Given the description of an element on the screen output the (x, y) to click on. 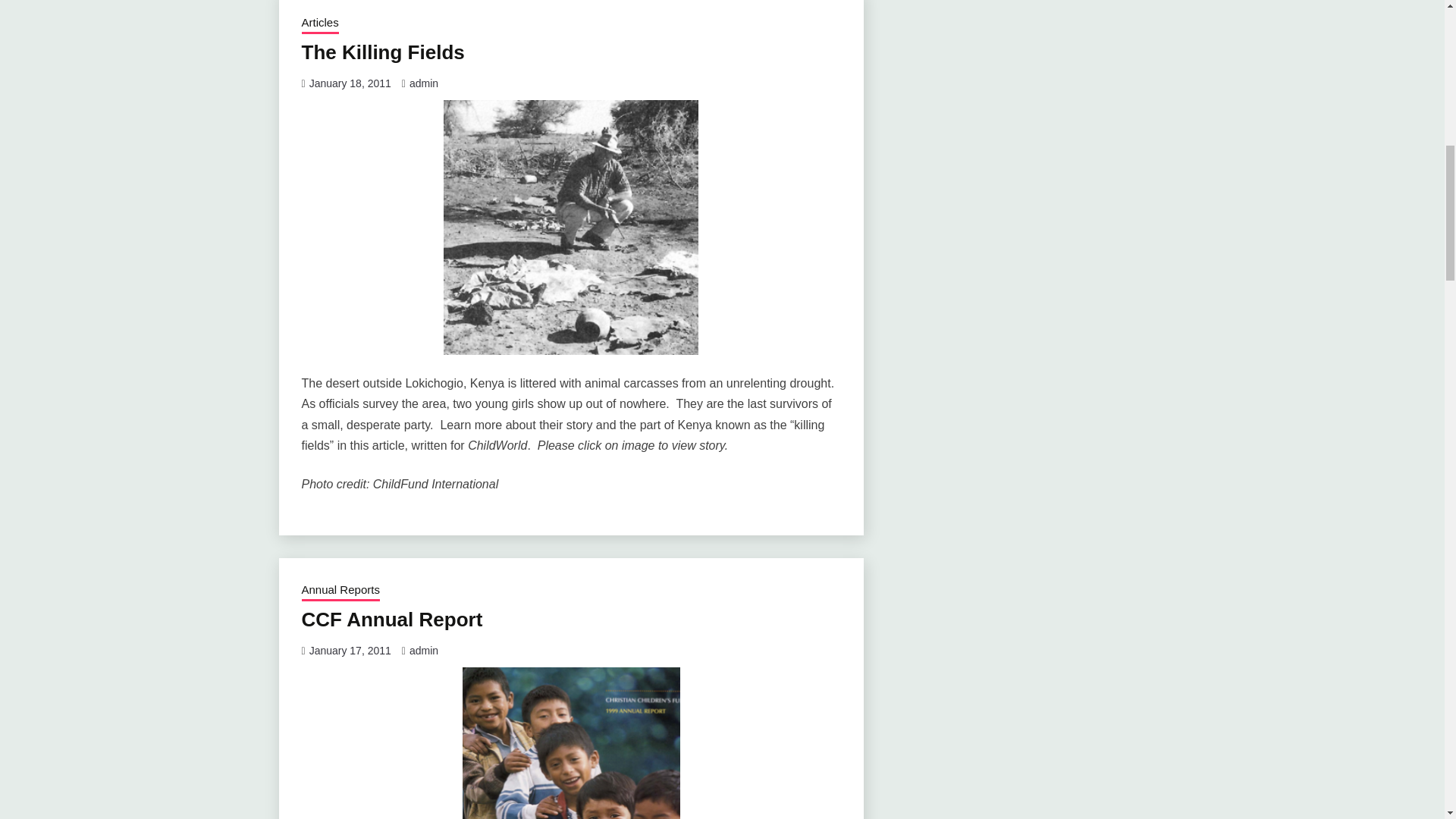
killing-fields-cover (571, 226)
January 17, 2011 (349, 650)
January 18, 2011 (349, 82)
Annual Reports (340, 591)
admin (423, 82)
admin (423, 650)
Articles (320, 24)
The Killing Fields (382, 51)
CCF Annual Report (392, 619)
